Given the description of an element on the screen output the (x, y) to click on. 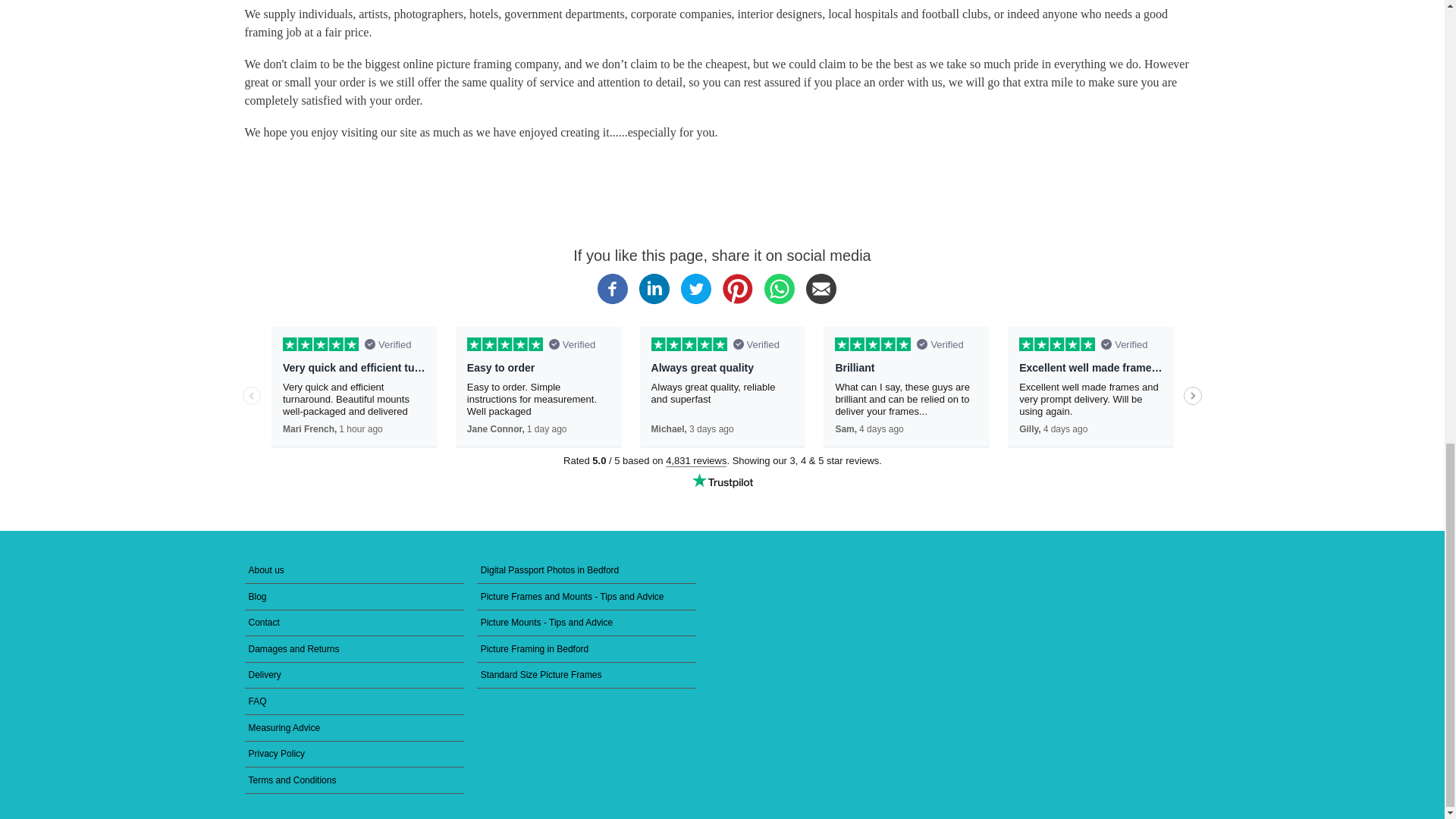
Privacy Policy for The Picture Gallery (354, 755)
Contact (354, 623)
FAQ (354, 701)
whatsapp (779, 300)
Privacy Policy (354, 755)
Facebook (611, 300)
Twitter (696, 300)
Terms and Conditions (354, 780)
Measuring advice for picture frames and mounts (354, 728)
Pinterest (737, 300)
Damages and Returns (354, 649)
Digital passport photos in Bedford (587, 570)
Delivery (354, 675)
Email (820, 300)
